Given the description of an element on the screen output the (x, y) to click on. 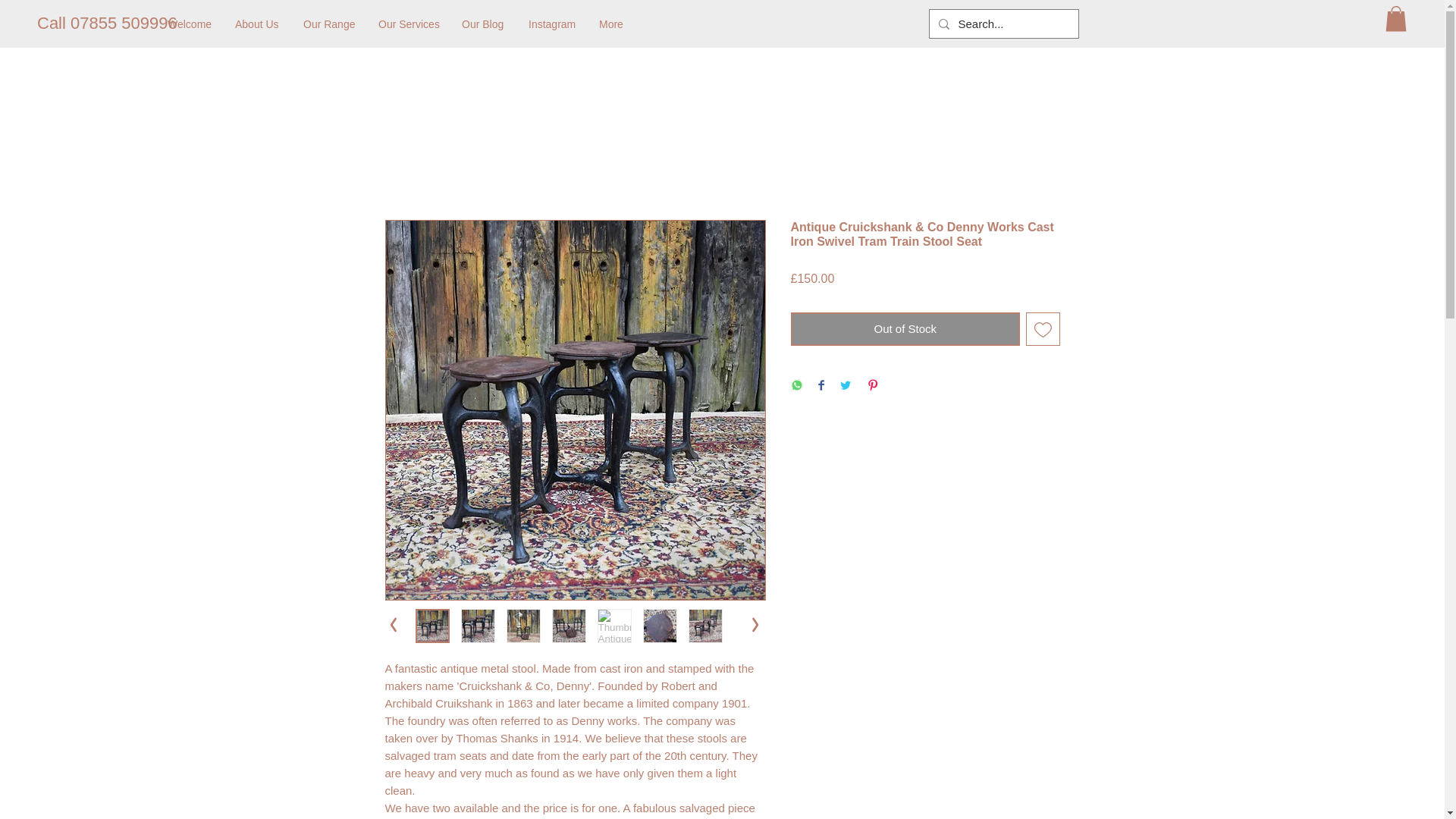
Our Blog (482, 24)
About Us (258, 24)
Our Range (329, 24)
Welcome (189, 24)
Call 07855 509996 (107, 23)
Instagram (552, 24)
